Given the description of an element on the screen output the (x, y) to click on. 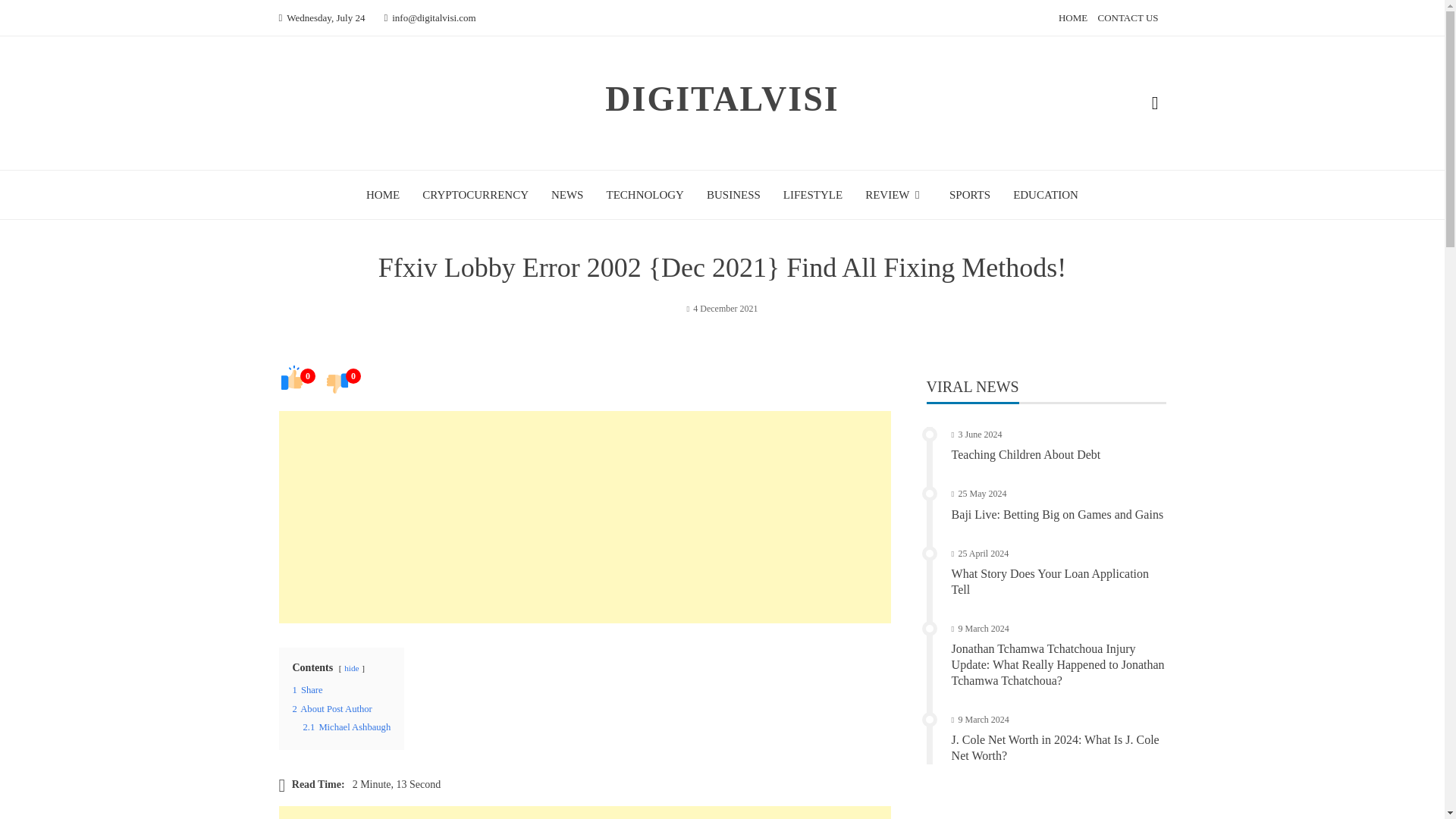
1 Share (307, 689)
HOME (382, 194)
2 About Post Author (332, 708)
2.1 Michael Ashbaugh (346, 726)
Baji Live: Betting Big on Games and Gains (1057, 513)
Teaching Children About Debt (1026, 454)
EDUCATION (1045, 194)
LIFESTYLE (813, 194)
DIGITALVISI (721, 98)
CRYPTOCURRENCY (475, 194)
BUSINESS (733, 194)
REVIEW (895, 194)
TECHNOLOGY (644, 194)
SPORTS (969, 194)
Advertisement (585, 812)
